Given the description of an element on the screen output the (x, y) to click on. 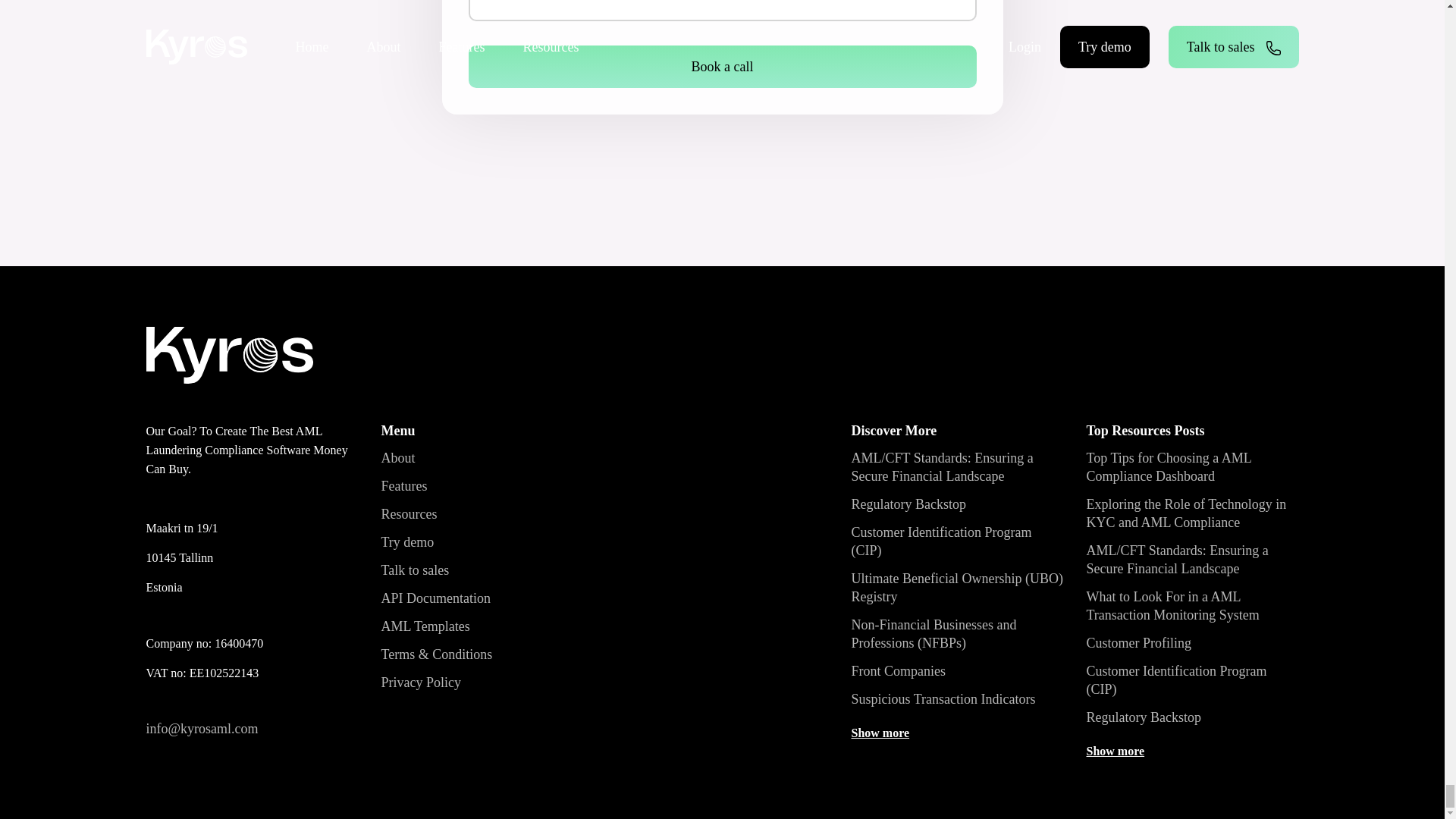
Front Companies (897, 670)
Suspicious Transaction Indicators (942, 699)
Regulatory Backstop (907, 504)
